Given the description of an element on the screen output the (x, y) to click on. 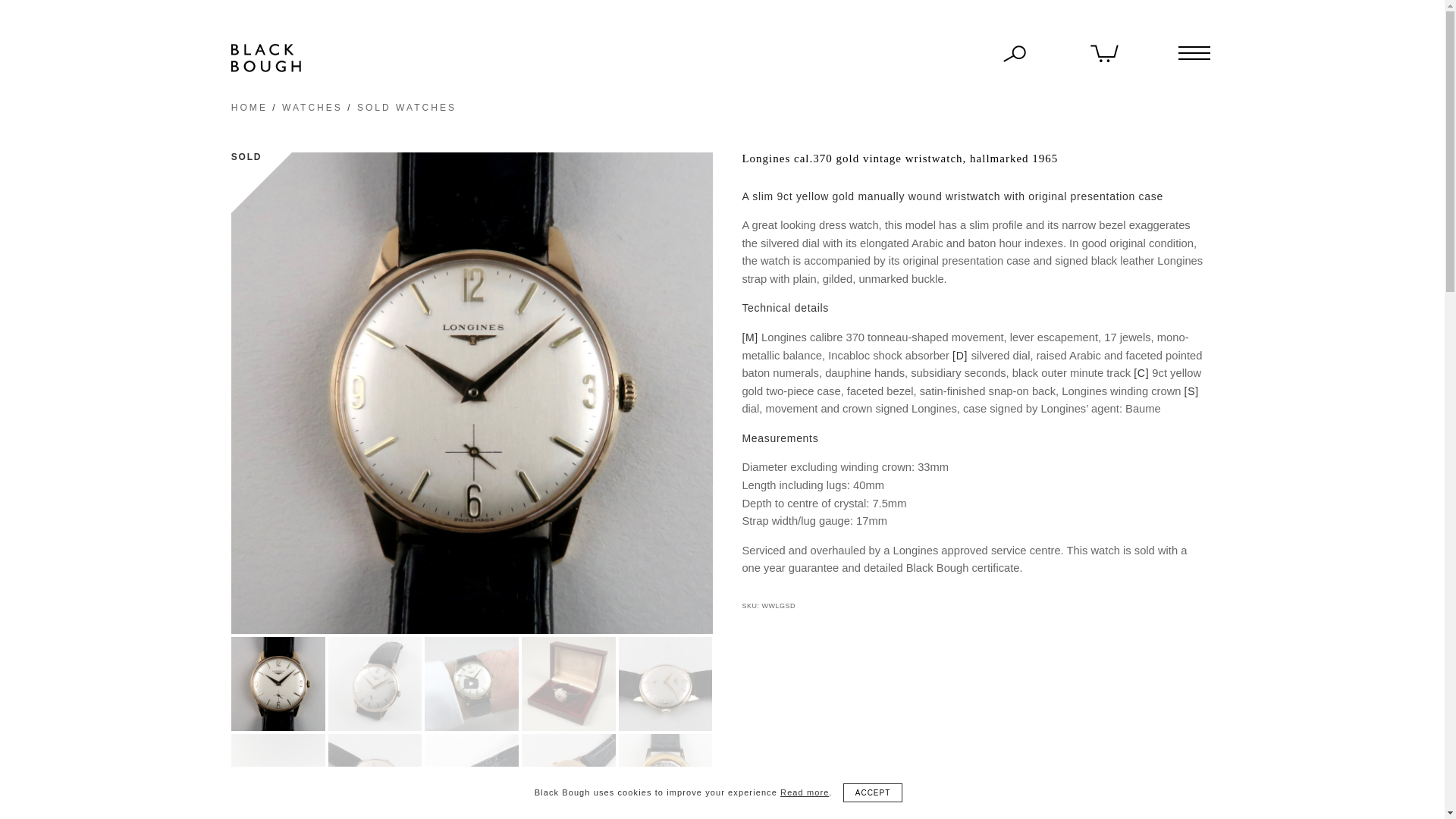
longines-gold-vintage-wristwatch-hallmarked-1965-wwlgsd-v02 (375, 684)
longines-gold-vintage-wristwatch-hallmarked-1965-wwlgsd-vid (471, 684)
longines-gold-vintage-wristwatch-hallmarked-1965-wwlgsd-v20 (568, 684)
View your shopping basket (1104, 52)
longines-gold-vintage-wristwatch-hallmarked-1965-wwlgsd-v01 (277, 684)
longines-gold-vintage-wristwatch-hallmarked-1965-wwlgsd-v03 (665, 684)
